Given the description of an element on the screen output the (x, y) to click on. 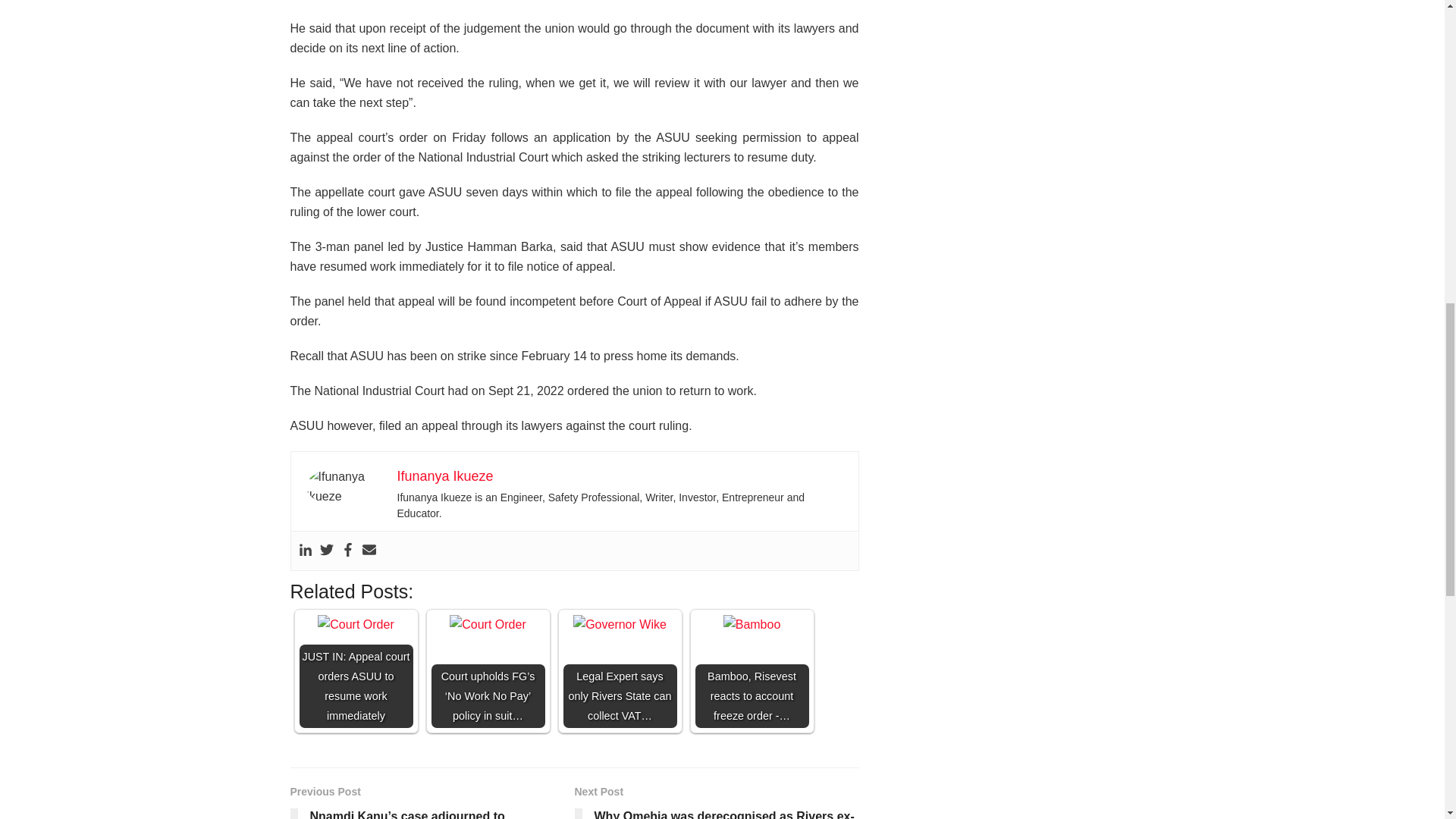
JUST IN: Appeal court orders ASUU to resume work immediately (355, 624)
